Given the description of an element on the screen output the (x, y) to click on. 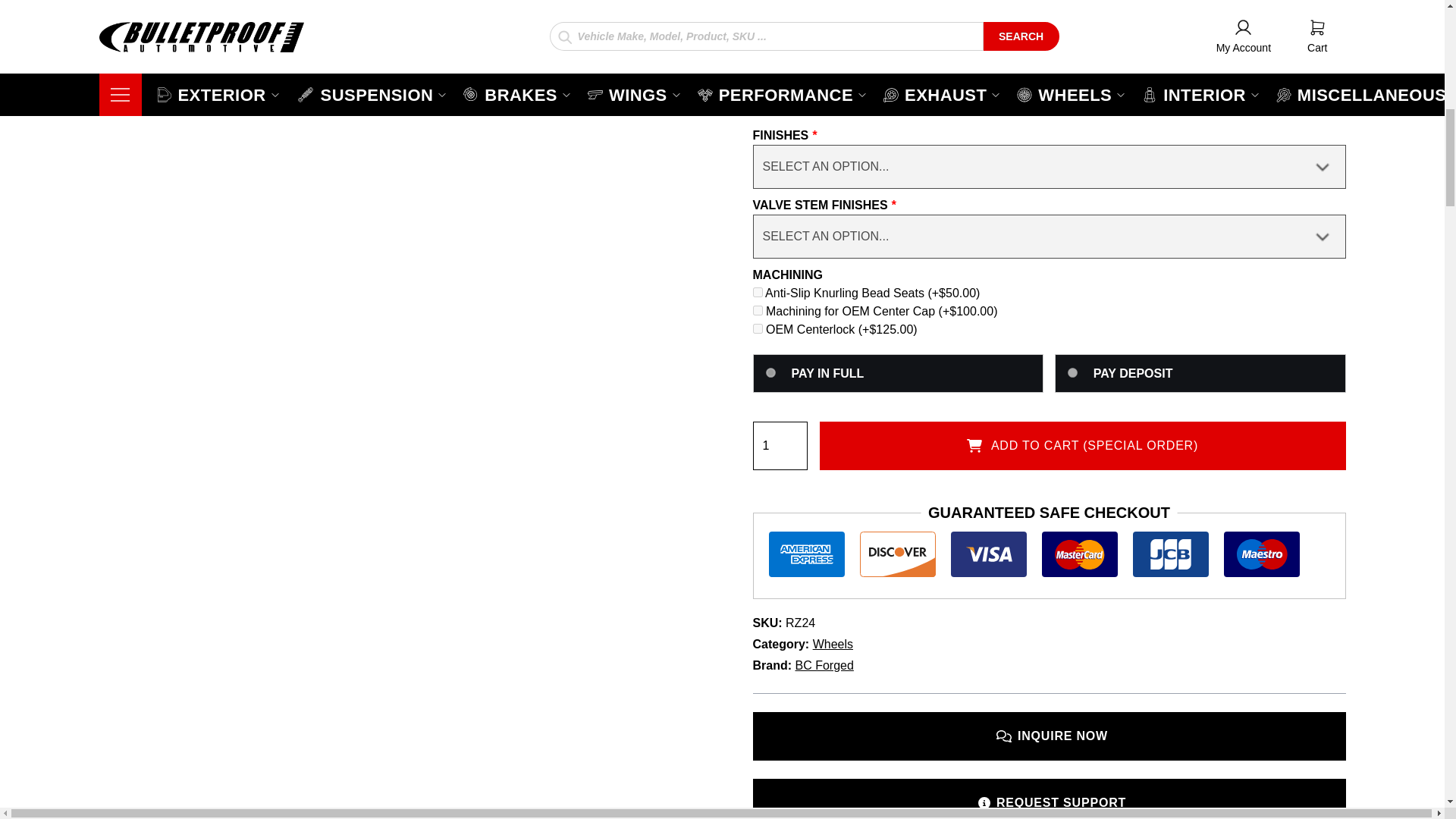
anti-slip-knurling-bead-seats (756, 292)
no (770, 372)
oem-centerlock (756, 328)
1 (779, 445)
machining-for-oem-center-cap (756, 310)
yes (1072, 372)
